Given the description of an element on the screen output the (x, y) to click on. 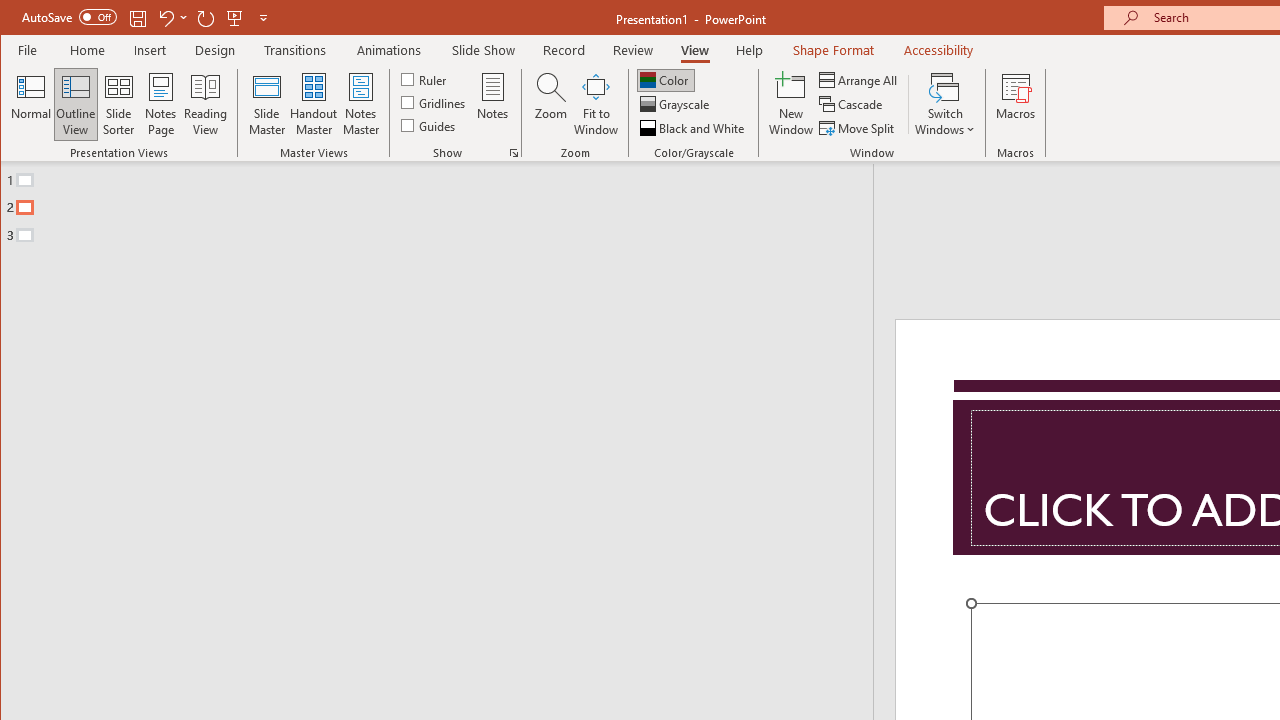
Fit to Window (596, 104)
Guides (430, 124)
Macros (1016, 104)
Arrange All (859, 80)
Reading View (205, 104)
Undo (165, 17)
System (18, 18)
Slide Sorter (118, 104)
Quick Access Toolbar (146, 17)
Normal (30, 104)
New Window (791, 104)
View (694, 50)
Customize Quick Access Toolbar (263, 17)
Home (87, 50)
